Given the description of an element on the screen output the (x, y) to click on. 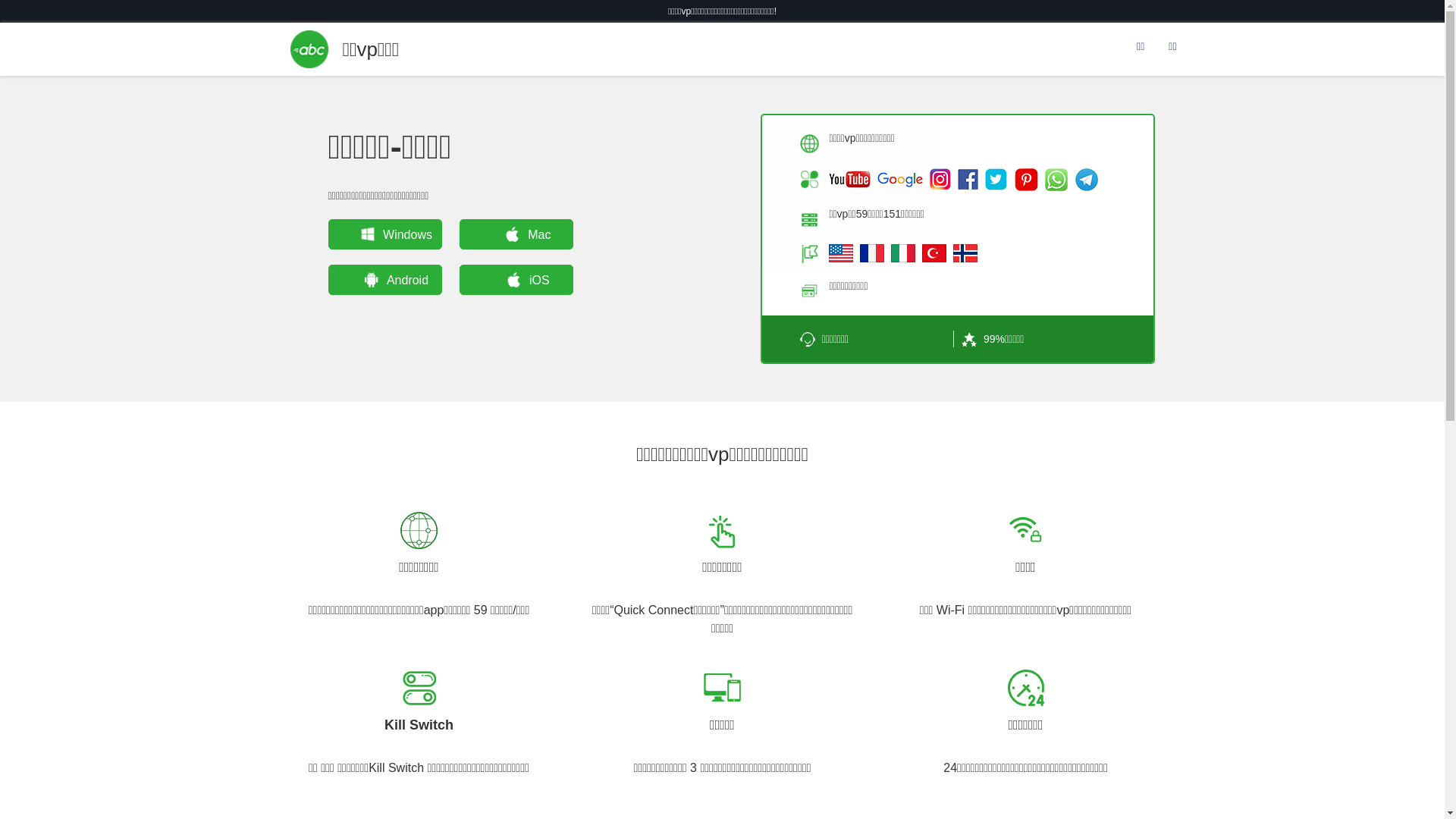
Android Element type: text (384, 278)
iOS Element type: text (516, 278)
Mac Element type: text (516, 233)
Windows Element type: text (384, 233)
